Given the description of an element on the screen output the (x, y) to click on. 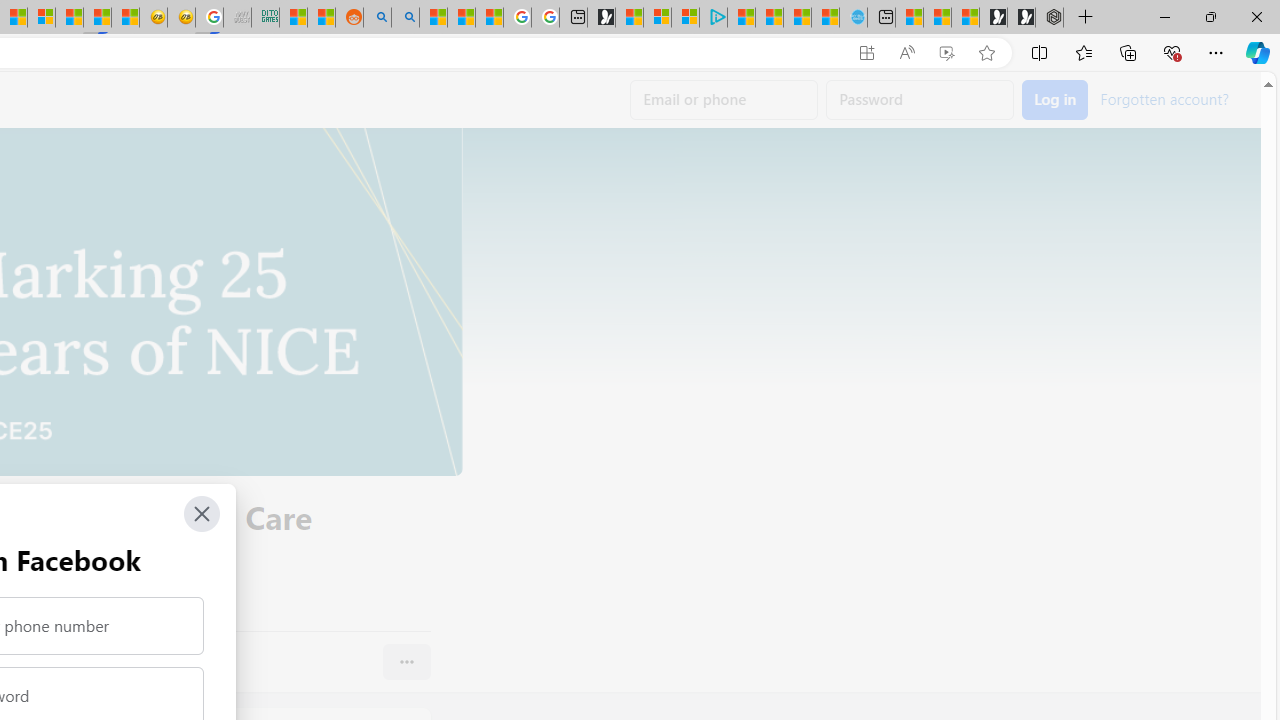
Utah sues federal government - Search (404, 17)
Forgotten account? (1163, 97)
